Given the description of an element on the screen output the (x, y) to click on. 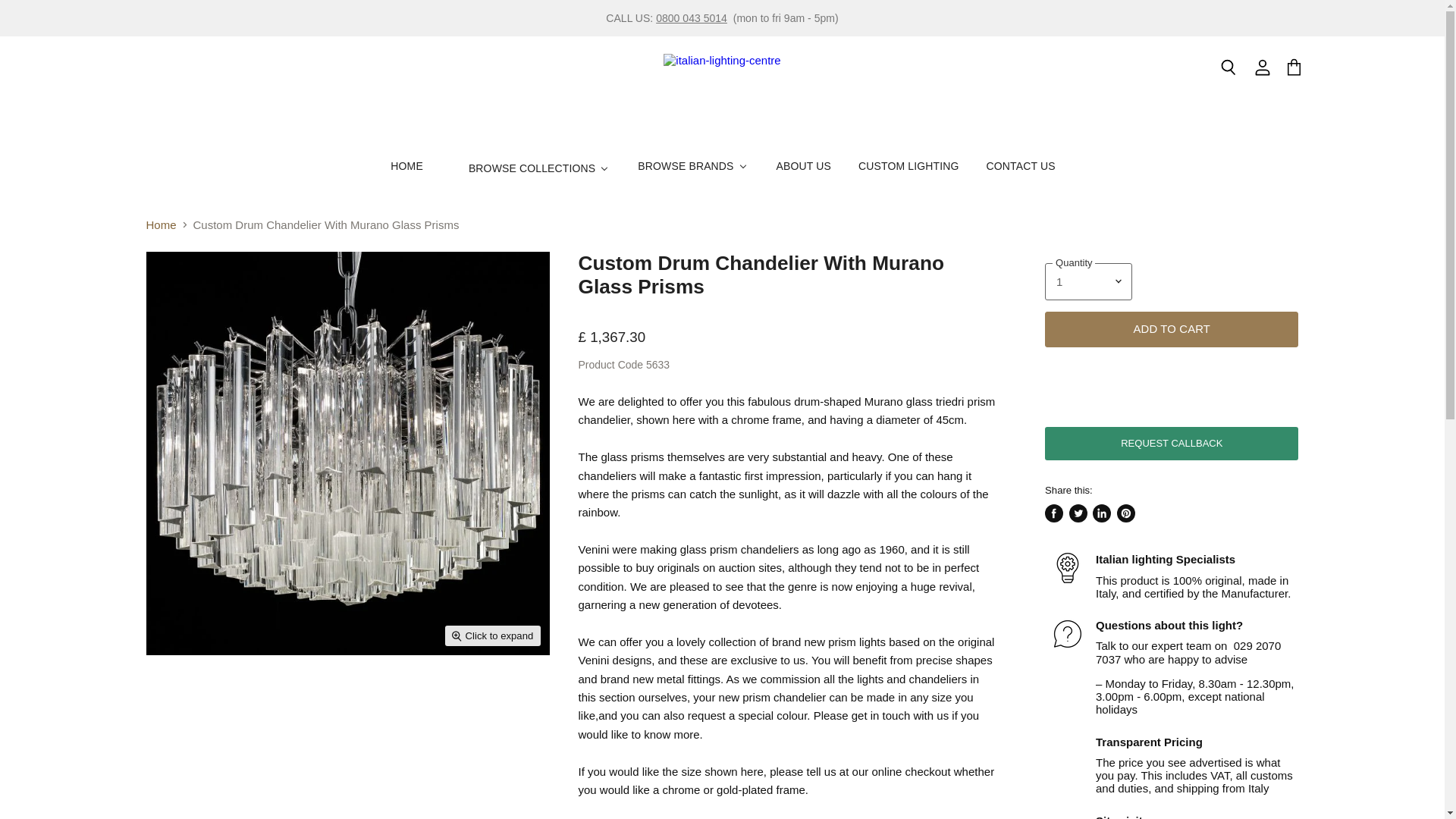
BROWSE COLLECTIONS (529, 167)
HOME (405, 165)
0800 043 5014 (691, 18)
